Given the description of an element on the screen output the (x, y) to click on. 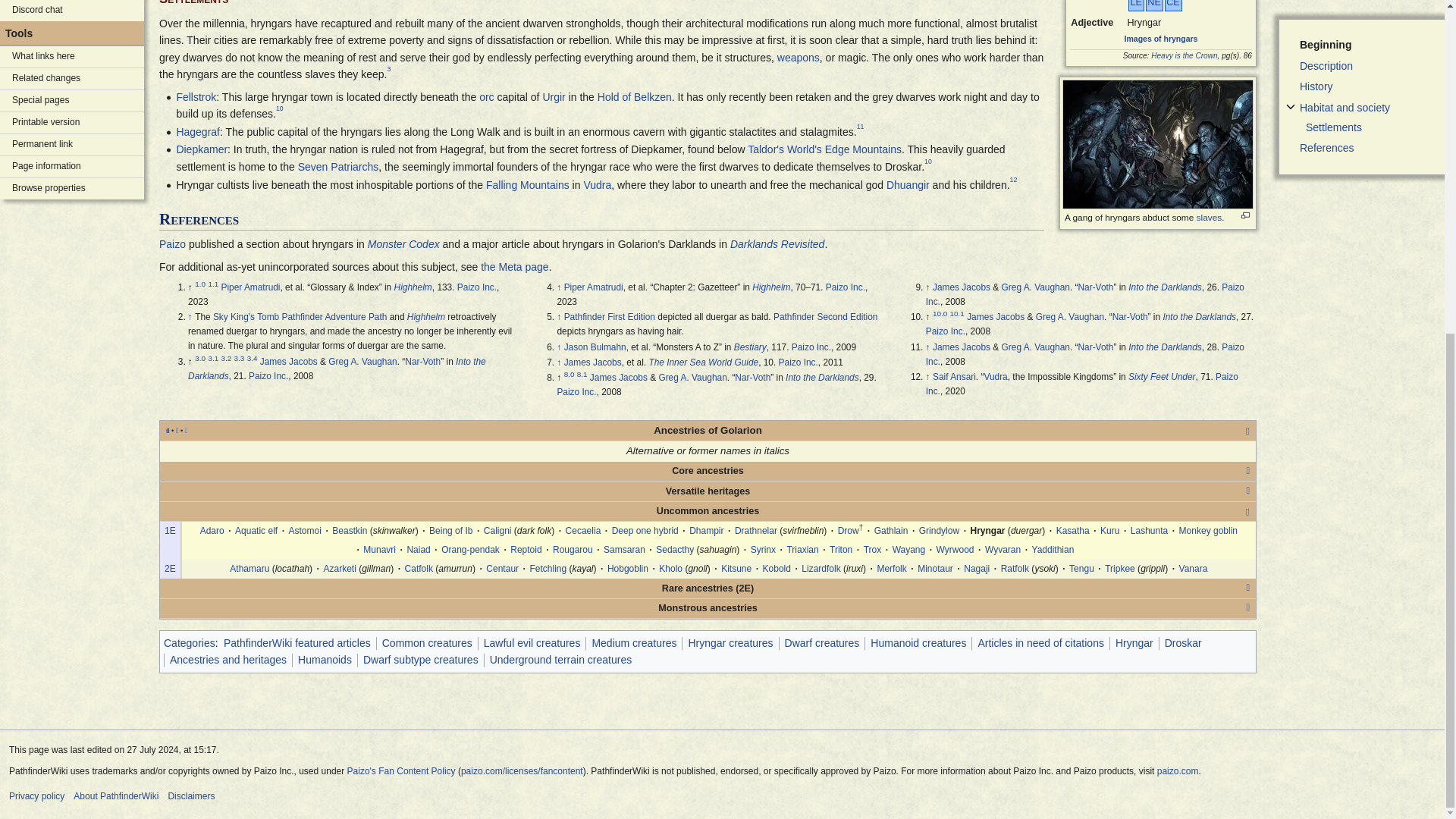
Printable version (72, 122)
Special pages (72, 100)
Discord chat (72, 10)
Permanent link to this revision of this page (72, 144)
What links here (72, 56)
Page information (72, 166)
Browse properties (72, 188)
Related changes (72, 78)
More information about this page (72, 166)
Permanent link (72, 144)
